Given the description of an element on the screen output the (x, y) to click on. 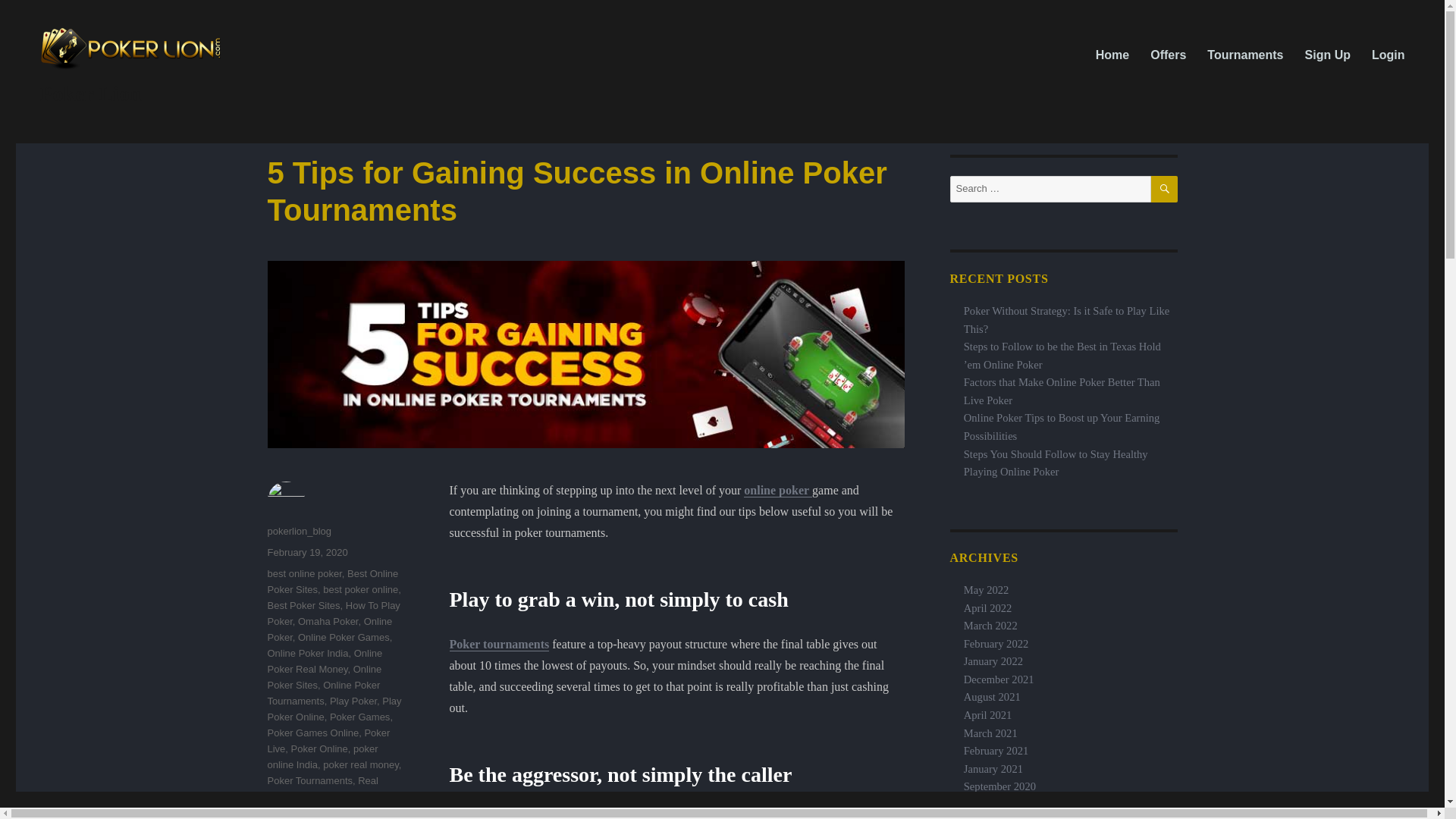
Tournaments (1245, 54)
Online Poker Real Money (323, 660)
Offers (1168, 54)
Online Poker India (306, 653)
poker real money (360, 764)
Best Poker Sites (302, 604)
Poker Online (319, 748)
Poker Lion (90, 93)
Login (1388, 54)
Omaha Poker (328, 621)
Real Money Poker (321, 788)
best online poker (303, 573)
Play Poker Online (333, 708)
Online Poker (328, 628)
Poker tournaments (498, 644)
